Given the description of an element on the screen output the (x, y) to click on. 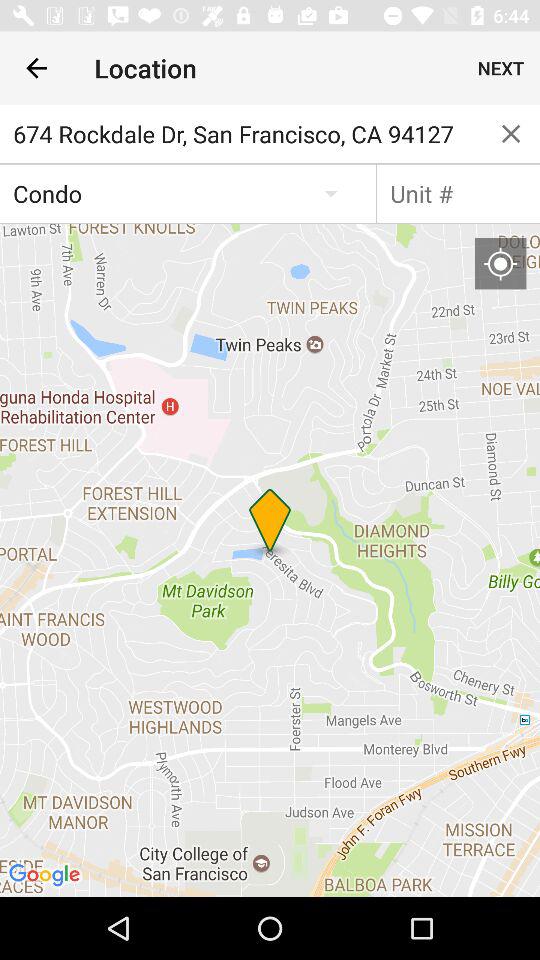
turn off the item to the left of location (36, 68)
